Given the description of an element on the screen output the (x, y) to click on. 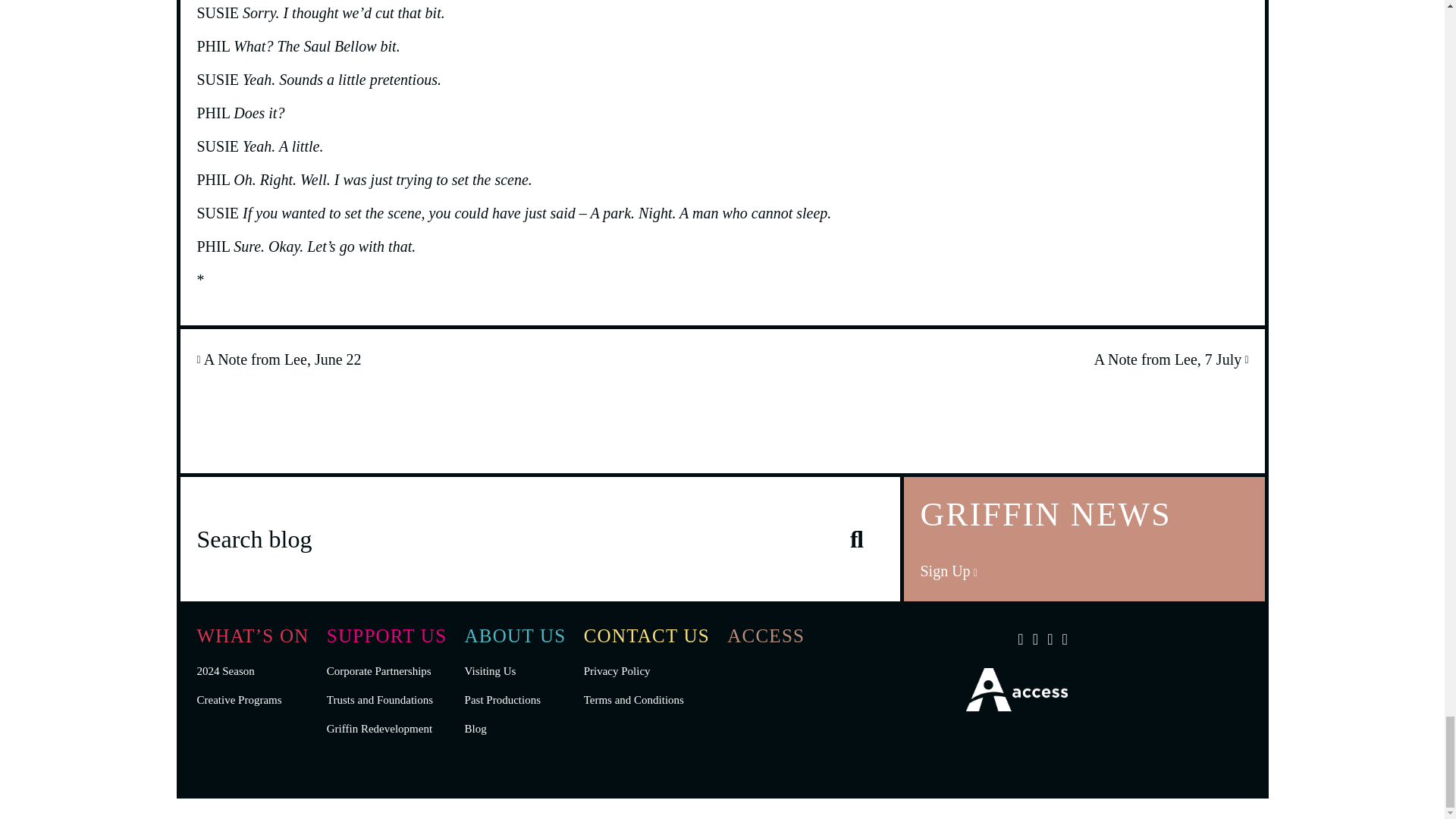
GRIFFIN NEWS (1084, 538)
A Note from Lee, 7 July (1171, 359)
Accessibility (1016, 705)
Sign Up (948, 570)
A Note from Lee, June 22 (278, 359)
